Given the description of an element on the screen output the (x, y) to click on. 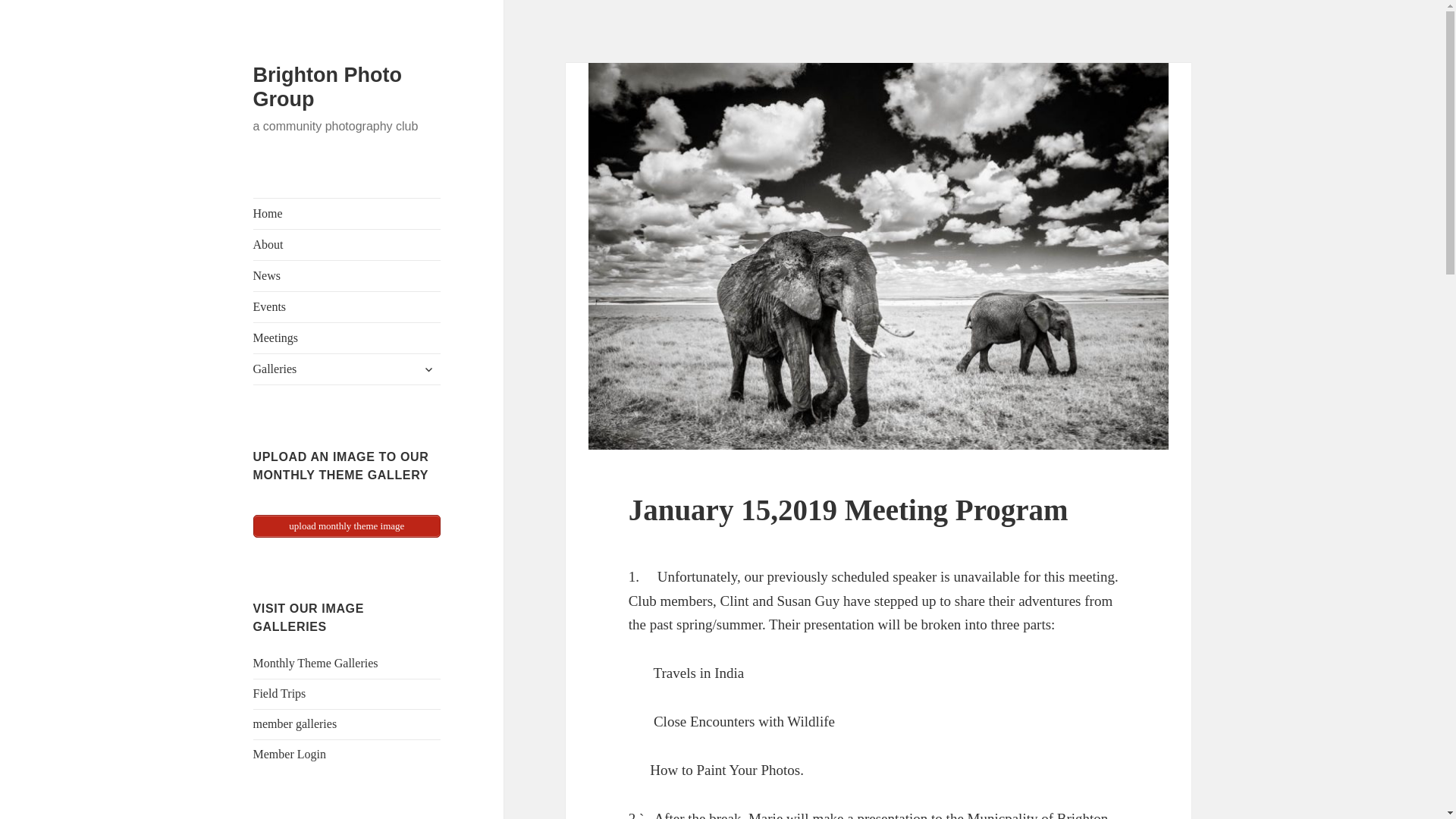
Galleries (347, 368)
Meetings (347, 337)
expand child menu (428, 369)
Home (347, 214)
Monthly Theme Galleries (315, 662)
Field Trips (279, 693)
Member Login (289, 753)
About (347, 245)
News (347, 276)
Brighton Photo Group (327, 86)
